Given the description of an element on the screen output the (x, y) to click on. 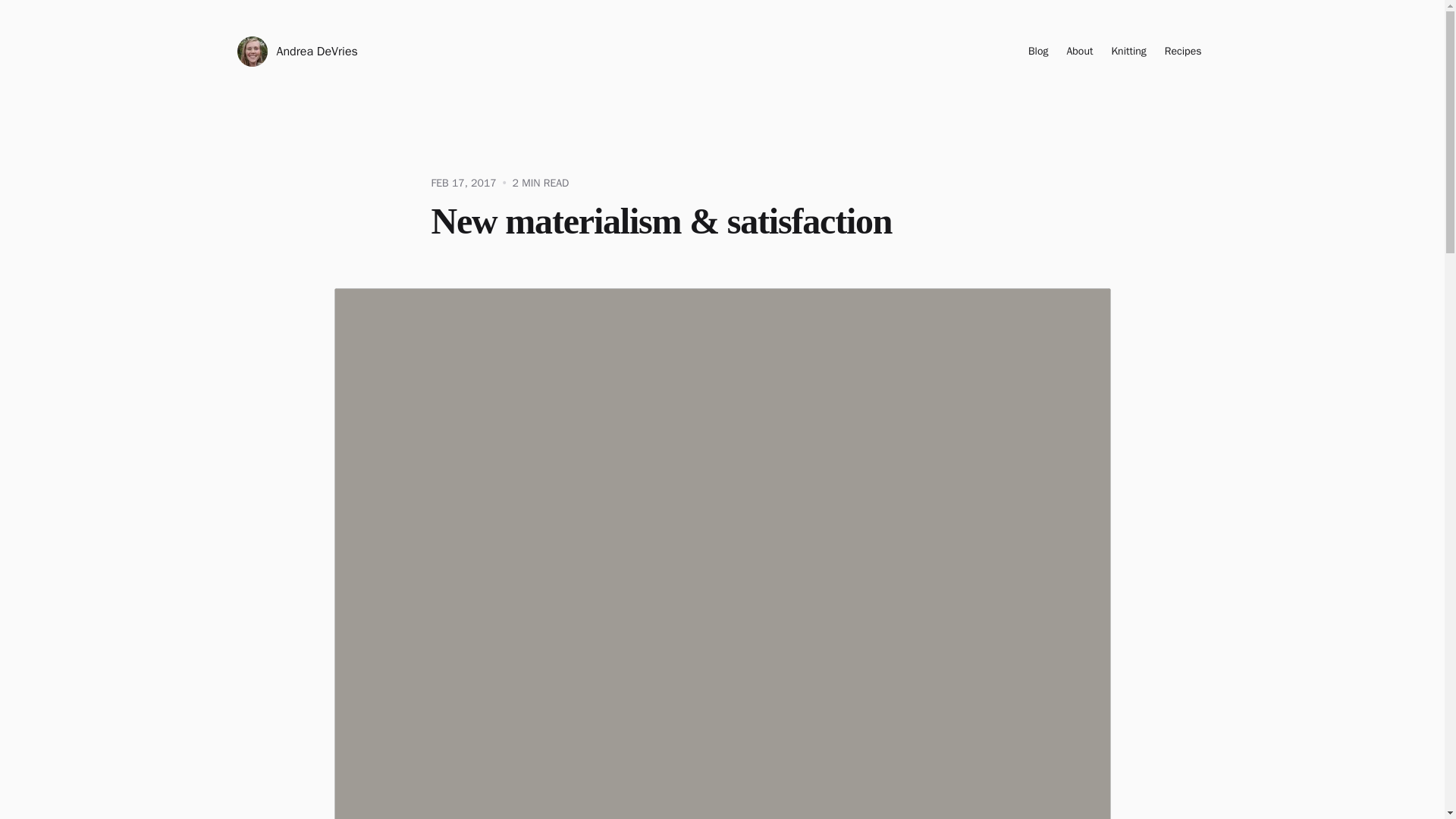
Knitting (1128, 51)
Recipes (1183, 51)
Blog (1038, 51)
About (1079, 51)
Andrea DeVries (295, 51)
